Given the description of an element on the screen output the (x, y) to click on. 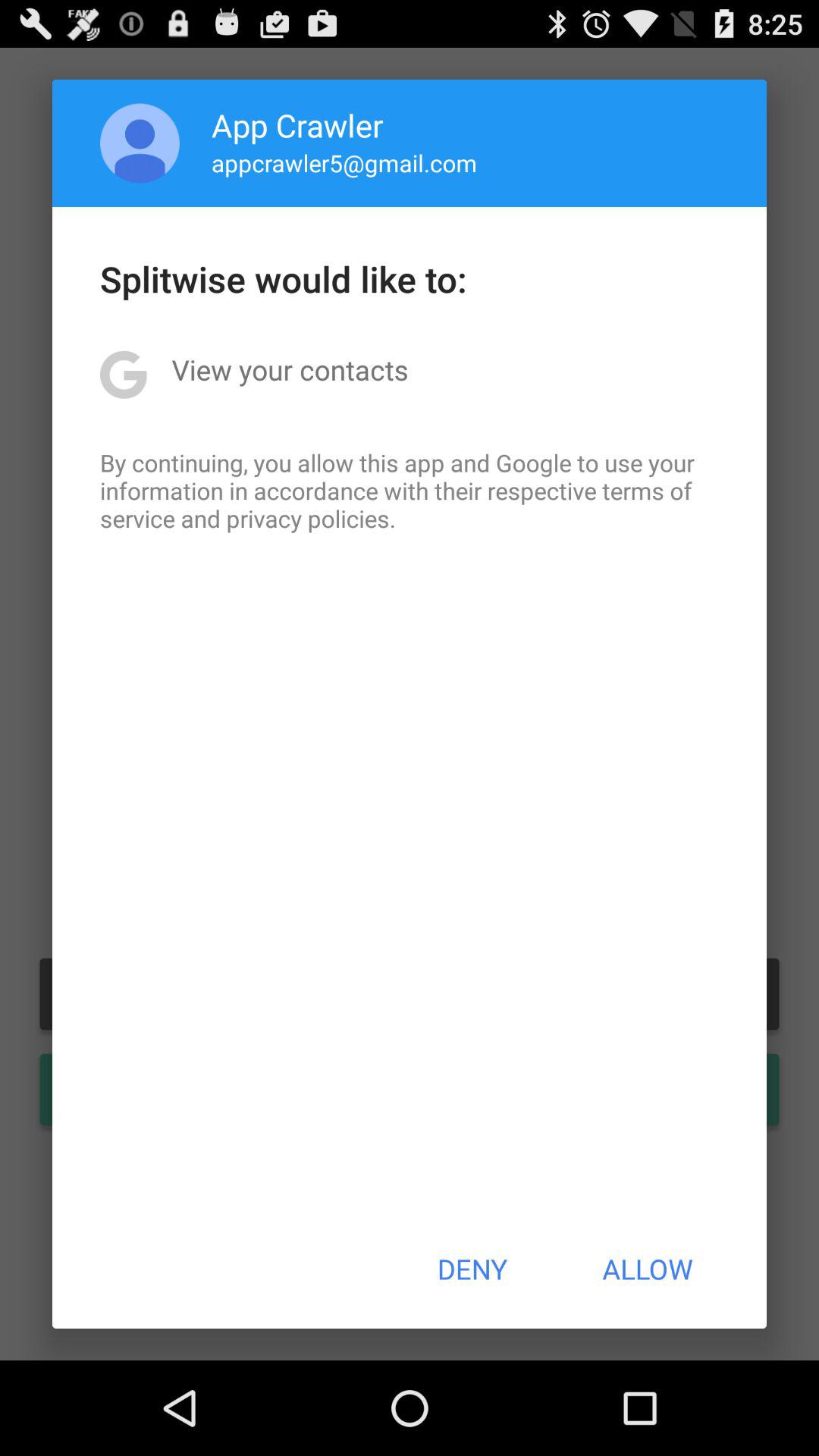
turn off app above splitwise would like (344, 162)
